Given the description of an element on the screen output the (x, y) to click on. 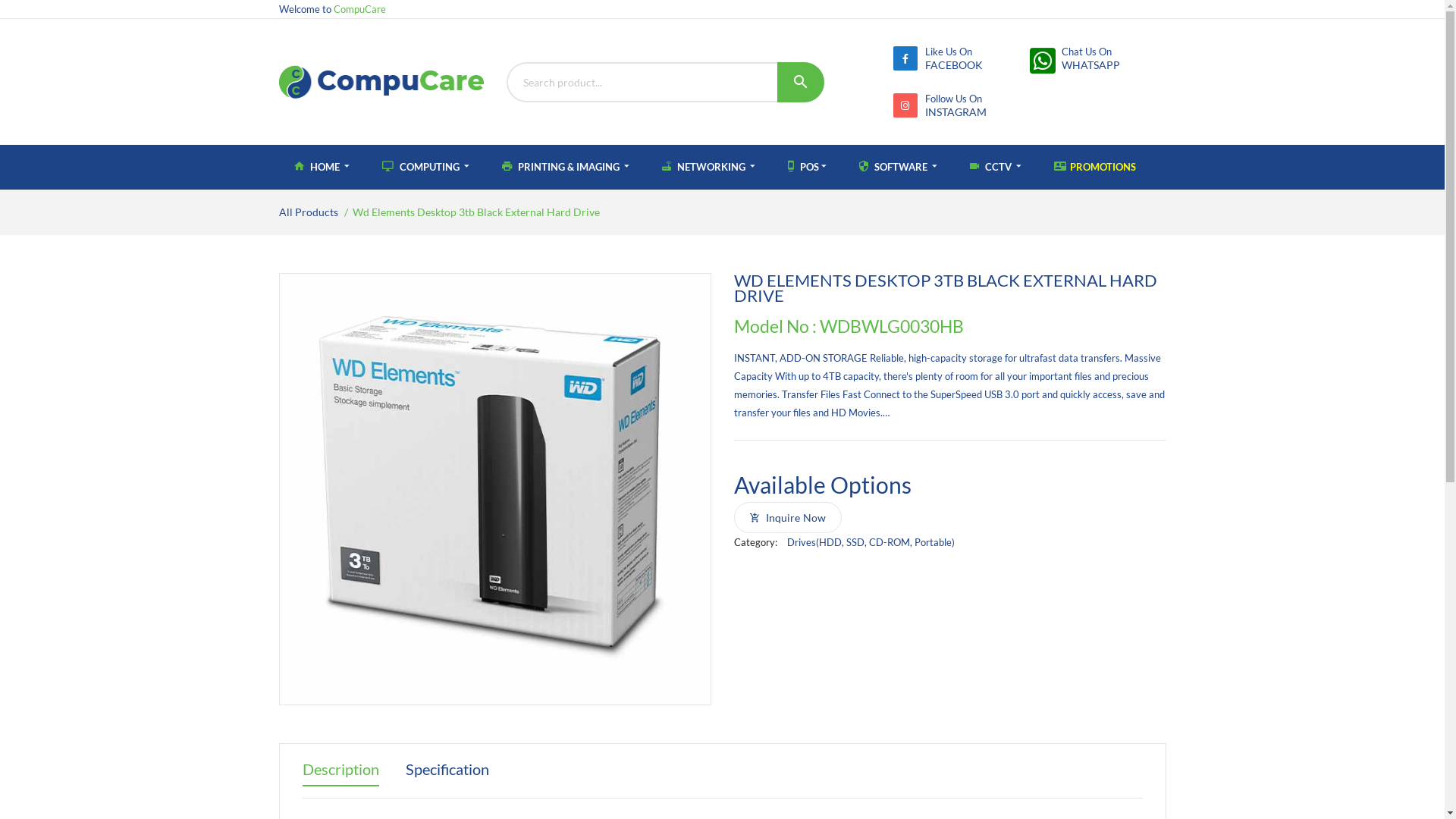
Specification Element type: text (446, 772)
COMPUTING Element type: text (425, 166)
All Products Element type: text (308, 211)
PROMOTIONS Element type: text (1094, 166)
PRINTING & IMAGING Element type: text (565, 166)
POS Element type: text (805, 166)
HOME Element type: text (321, 166)
Drives(HDD, SSD, CD-ROM, Portable) Element type: text (870, 542)
Description Element type: text (339, 772)
CCTV Element type: text (994, 166)
NETWORKING Element type: text (707, 166)
SOFTWARE Element type: text (897, 166)
Inquire Now Element type: text (787, 517)
